Given the description of an element on the screen output the (x, y) to click on. 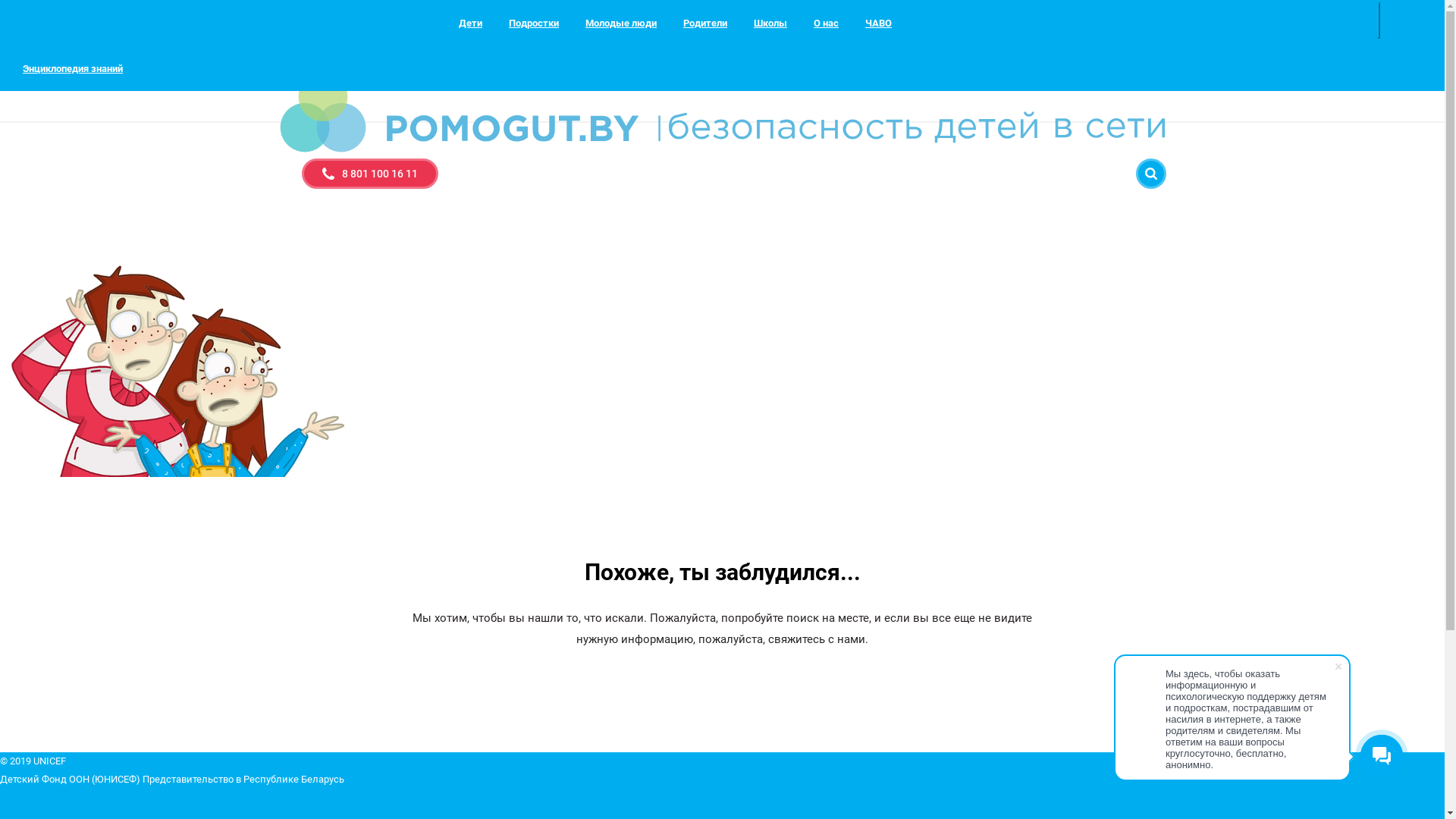
8 801 100 16 11 Element type: text (369, 173)
